Given the description of an element on the screen output the (x, y) to click on. 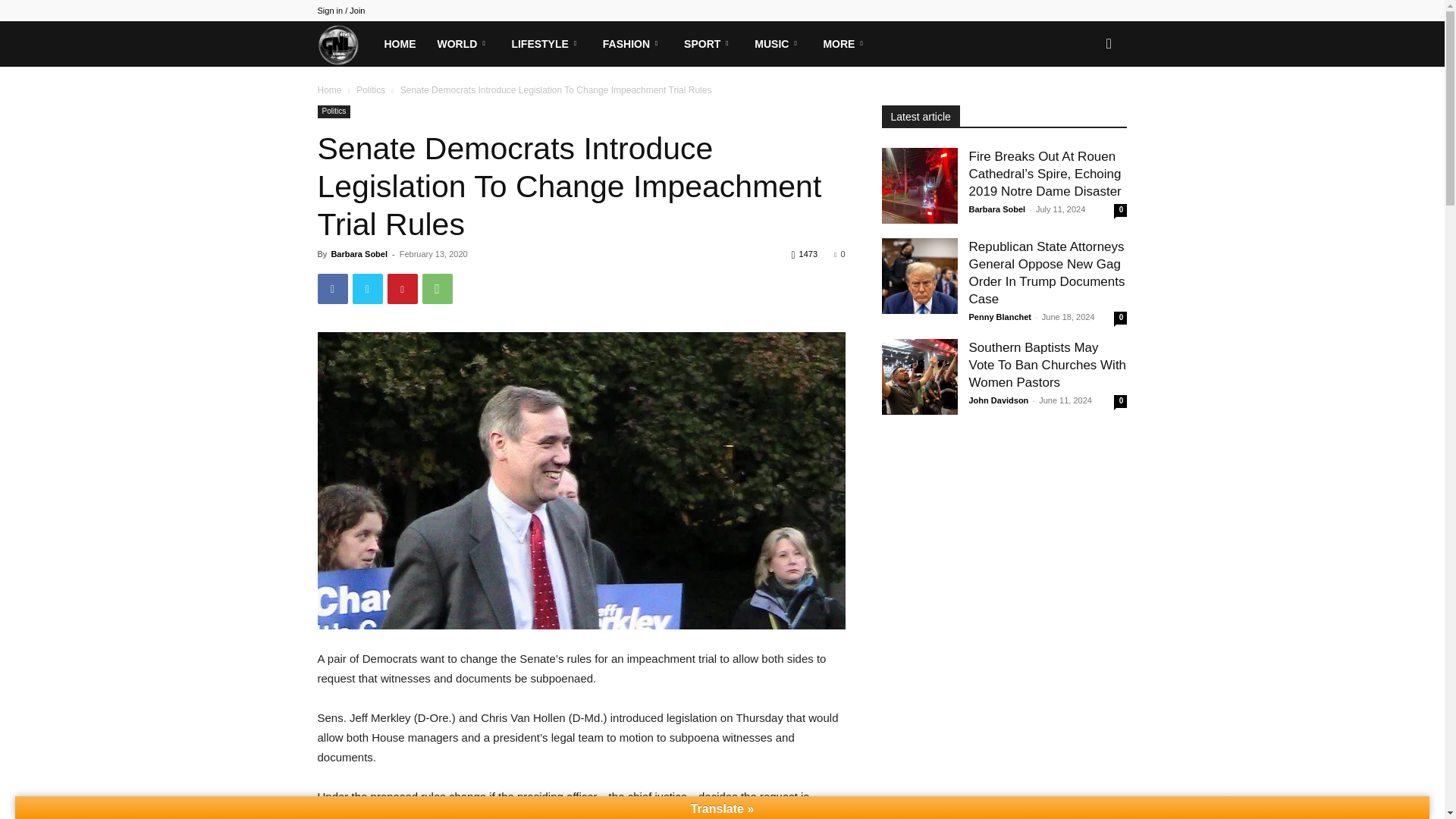
Global News Ink (344, 43)
LIFESTYLE (545, 43)
HOME (399, 43)
WORLD (463, 43)
